Given the description of an element on the screen output the (x, y) to click on. 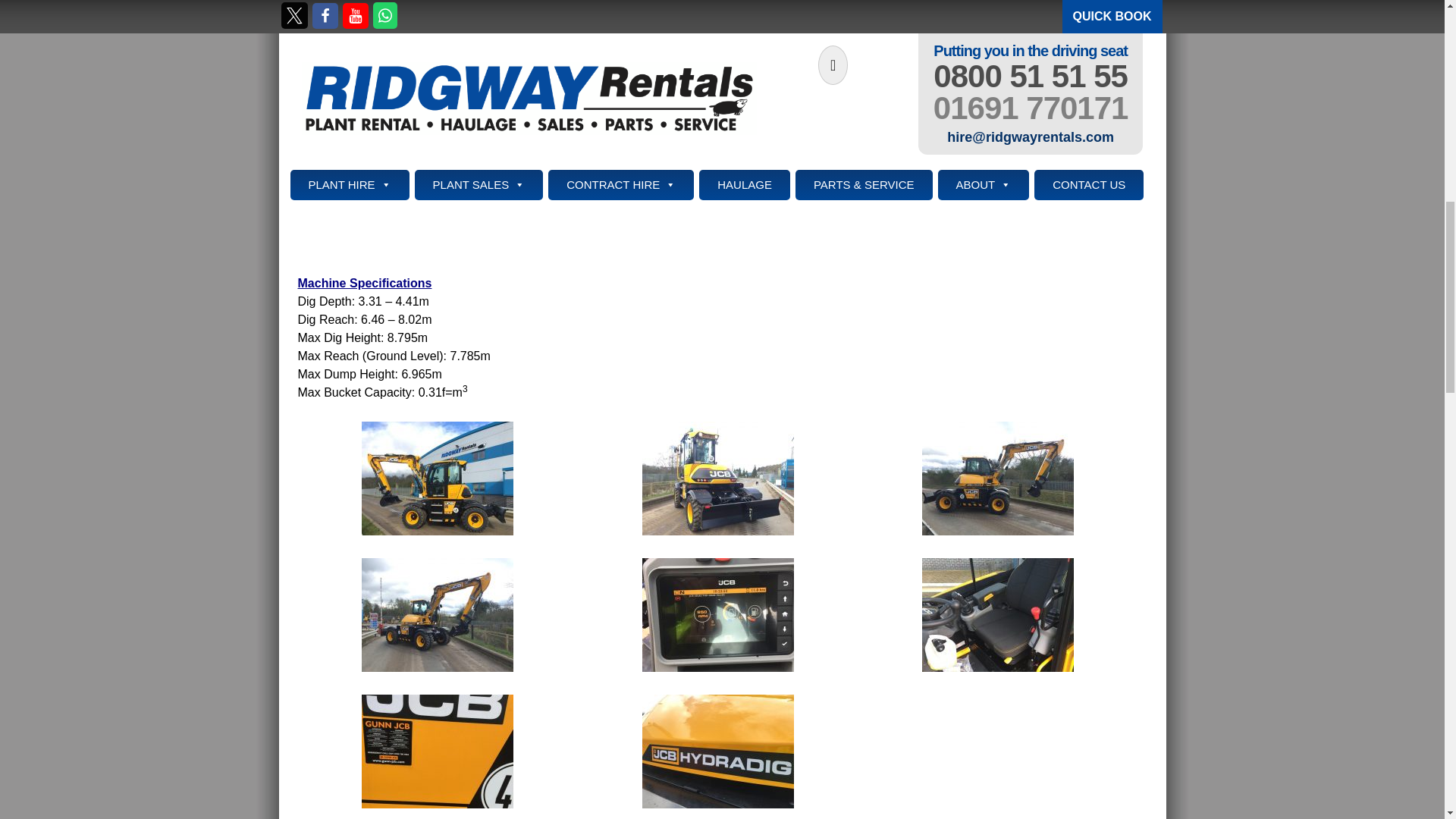
Hydradig Hire 8 (437, 749)
Hydradig Hire 4 (997, 477)
Hydradig Hire 7 (997, 613)
Hydradig Hire 5 (437, 613)
Hydradig Hire 6 (717, 613)
Hydradig Hire 9 (717, 749)
Hydradig Hire 1 (437, 477)
Hydradig Hire 3 (717, 477)
